Given the description of an element on the screen output the (x, y) to click on. 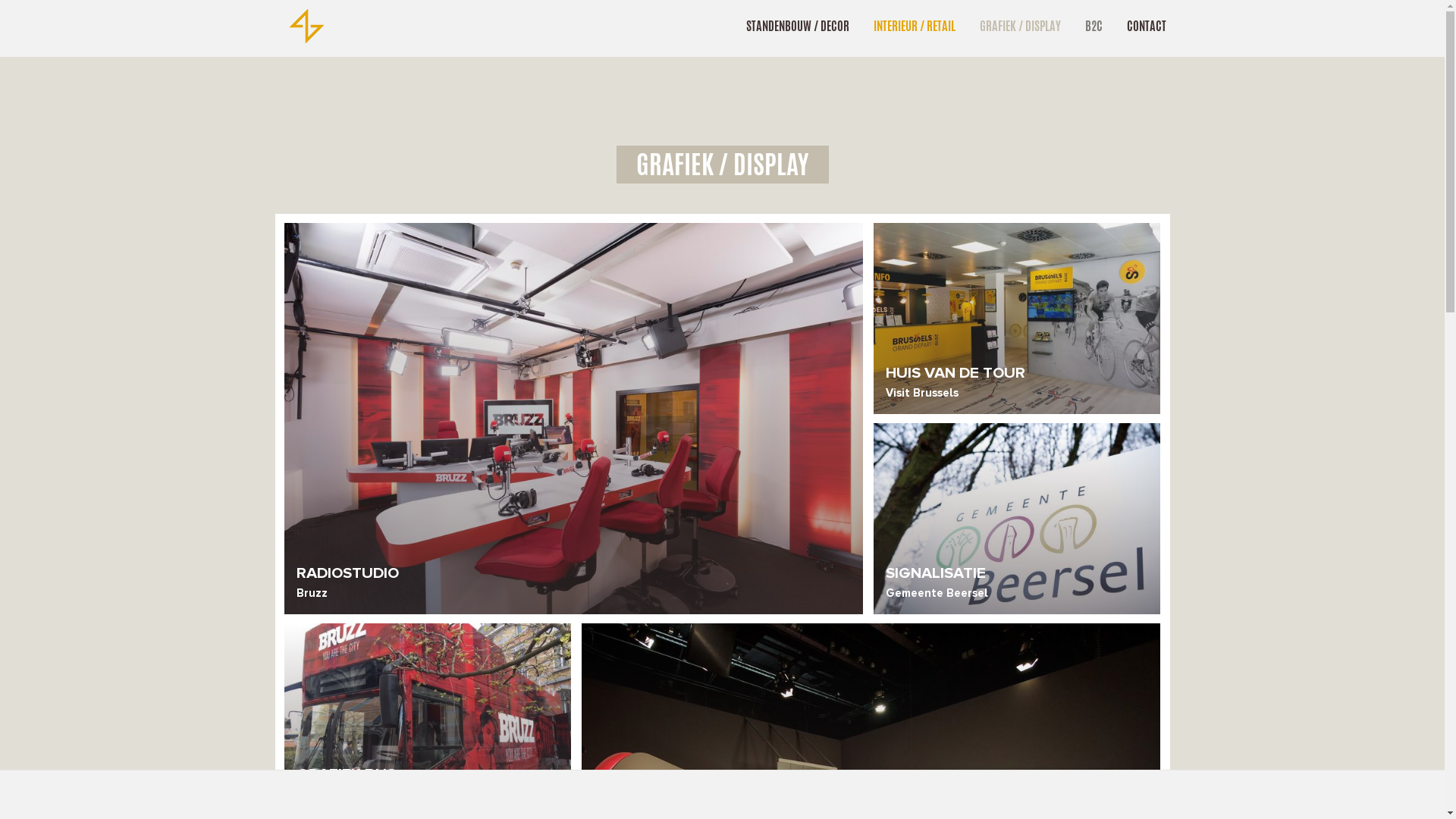
STANDENBOUW / DECOR Element type: text (797, 25)
INTERIEUR / RETAIL Element type: text (914, 25)
B2C Element type: text (1093, 25)
GRAFIEK / DISPLAY Element type: text (1019, 25)
CONTACT Element type: text (1146, 25)
